Given the description of an element on the screen output the (x, y) to click on. 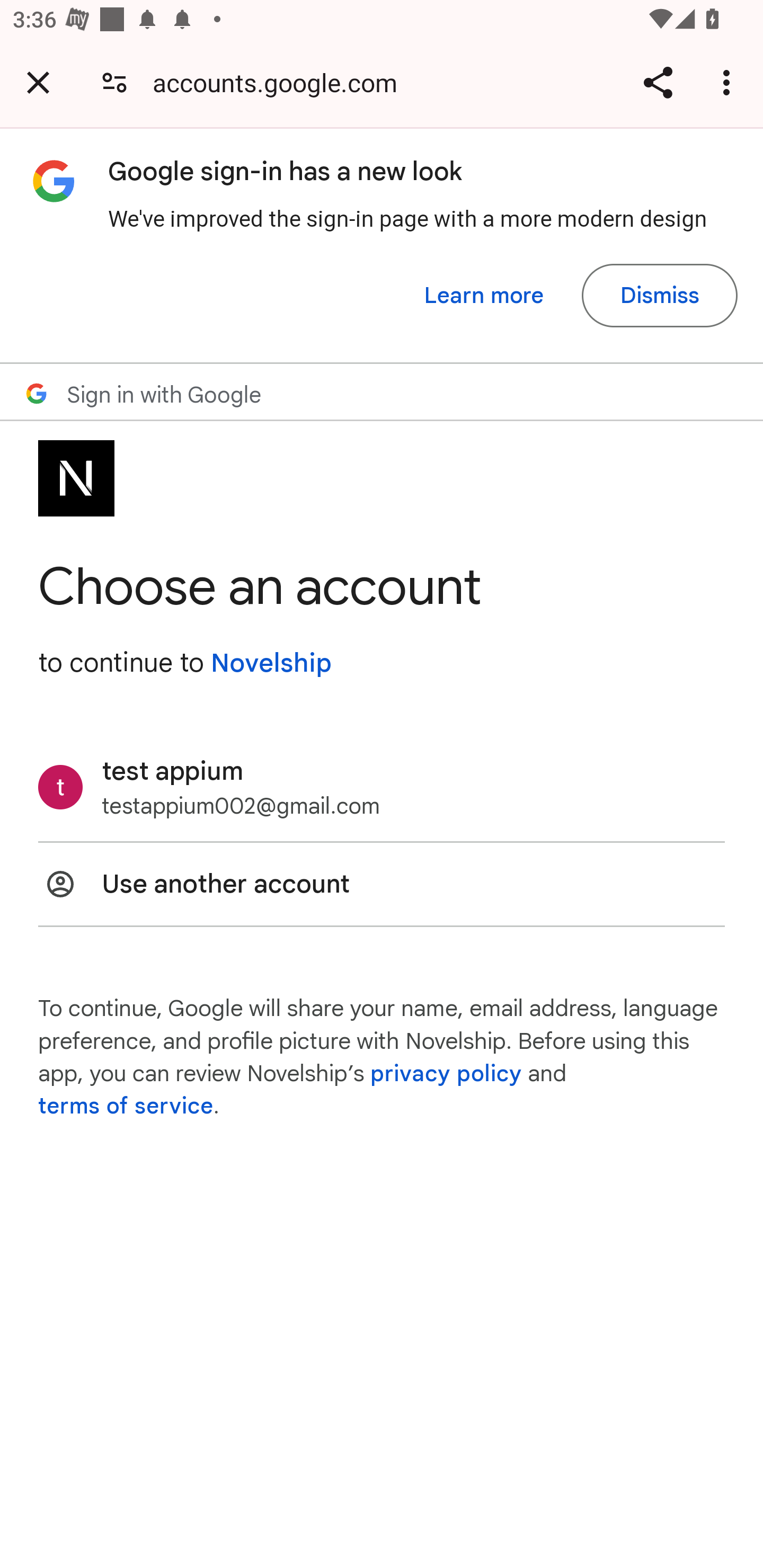
Close tab (38, 82)
Share (657, 82)
Customize and control Google Chrome (729, 82)
Connection is secure (114, 81)
accounts.google.com (281, 81)
Learn more (483, 295)
Dismiss (659, 295)
Novelship (270, 663)
Use another account (381, 884)
privacy policy (445, 1072)
terms of service (126, 1106)
